Given the description of an element on the screen output the (x, y) to click on. 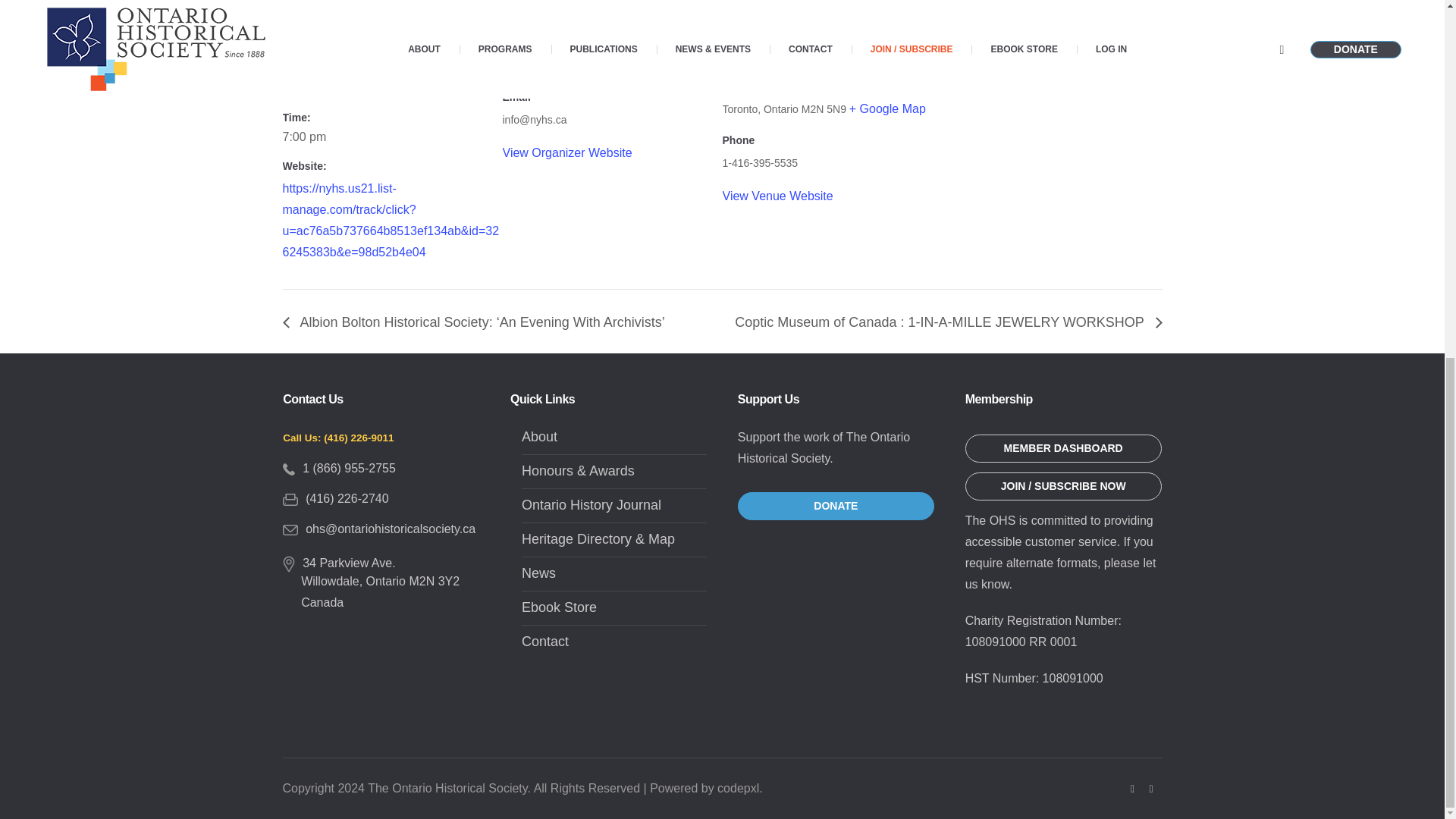
Facebook (1132, 789)
Twitter (1150, 789)
Ontario (779, 108)
2024-04-17 (302, 86)
Click to view a Google Map (887, 108)
2024-04-17 (392, 136)
North York Historical Society (578, 65)
